Given the description of an element on the screen output the (x, y) to click on. 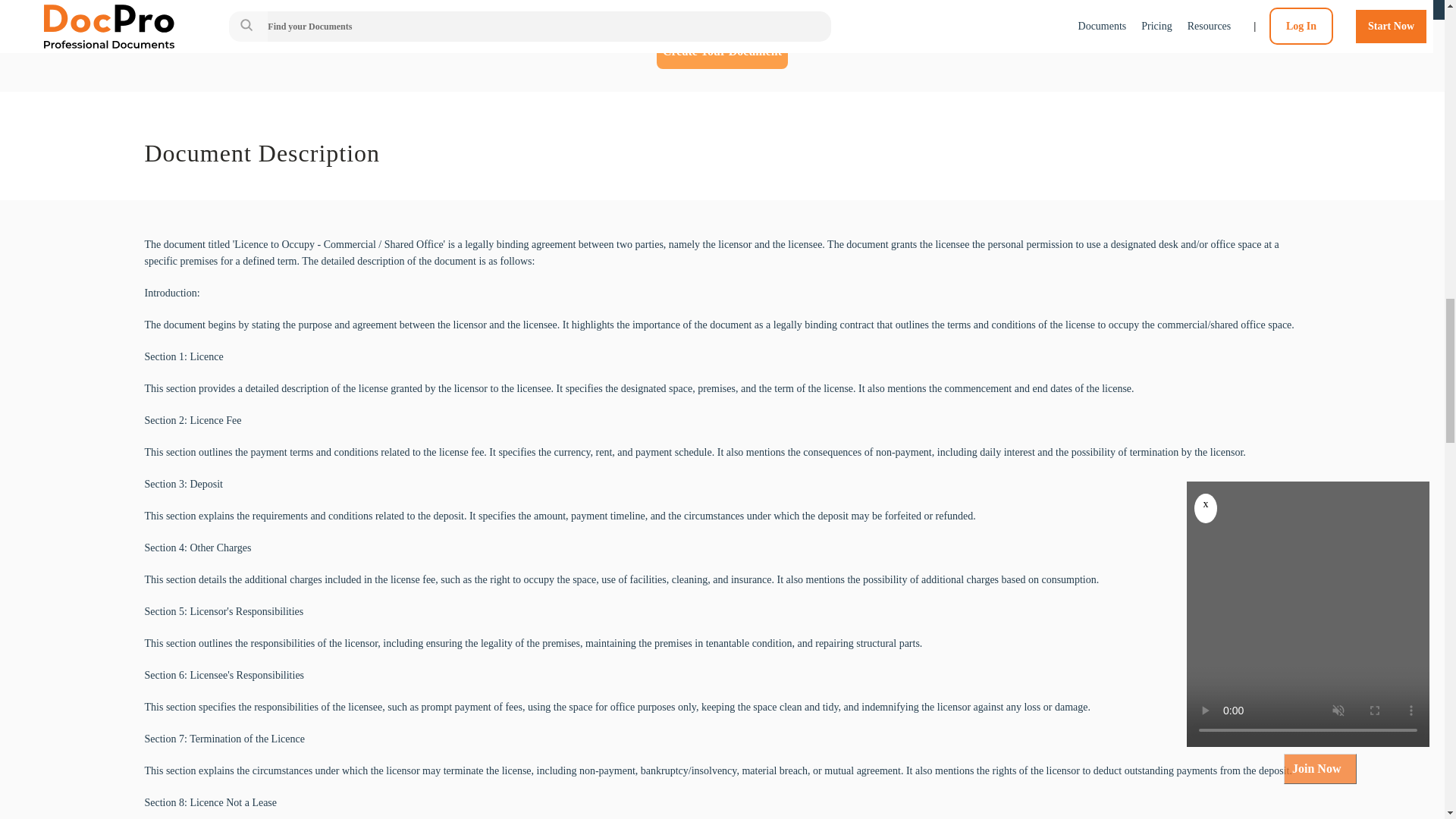
Create Your Document (721, 51)
